Given the description of an element on the screen output the (x, y) to click on. 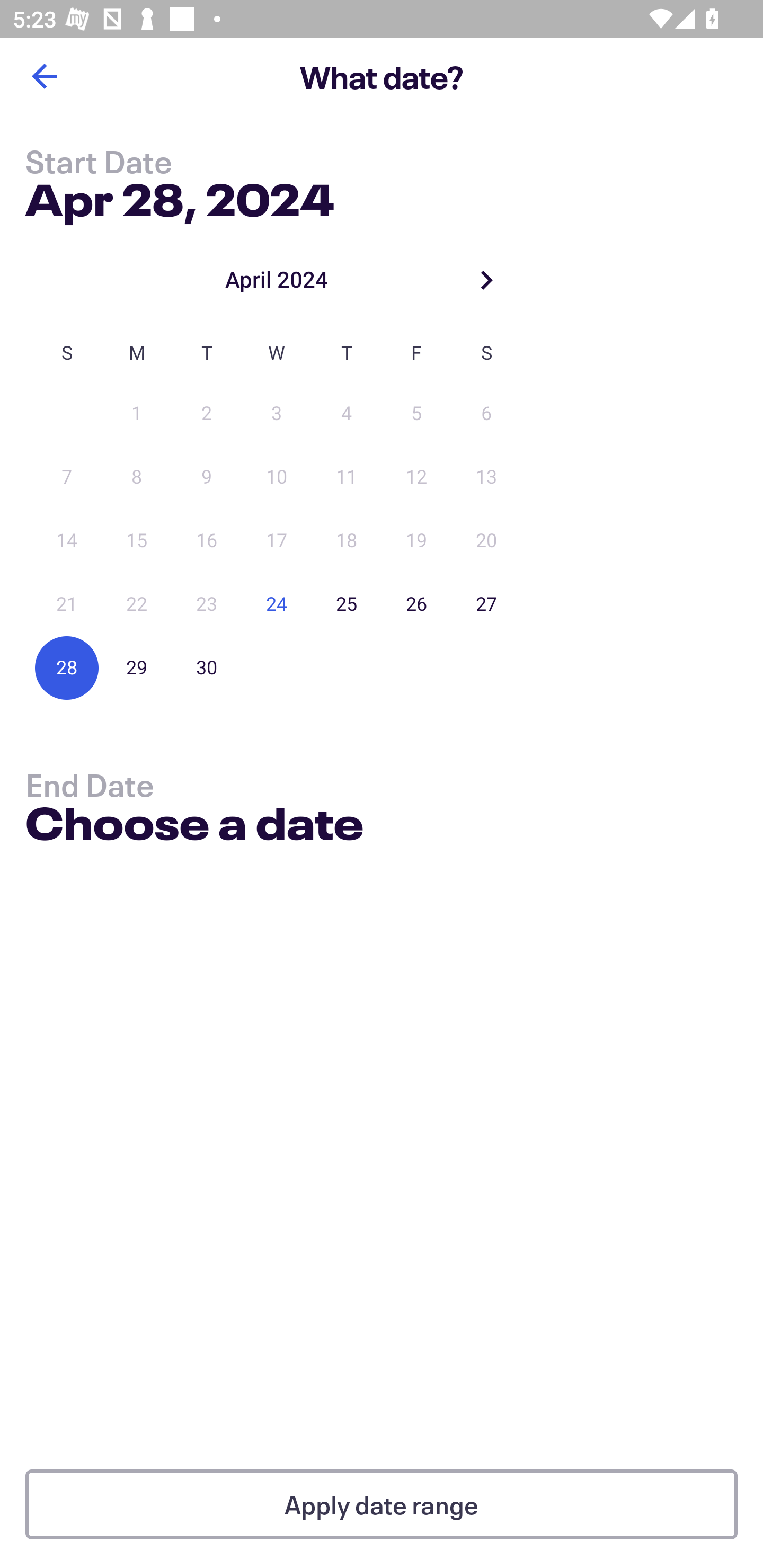
Back button (44, 75)
Apr 28, 2024 (179, 195)
Next month (486, 279)
1 01 April 2024 (136, 413)
2 02 April 2024 (206, 413)
3 03 April 2024 (276, 413)
4 04 April 2024 (346, 413)
5 05 April 2024 (416, 413)
6 06 April 2024 (486, 413)
7 07 April 2024 (66, 477)
8 08 April 2024 (136, 477)
9 09 April 2024 (206, 477)
10 10 April 2024 (276, 477)
11 11 April 2024 (346, 477)
12 12 April 2024 (416, 477)
13 13 April 2024 (486, 477)
14 14 April 2024 (66, 540)
15 15 April 2024 (136, 540)
16 16 April 2024 (206, 540)
17 17 April 2024 (276, 540)
18 18 April 2024 (346, 540)
19 19 April 2024 (416, 540)
20 20 April 2024 (486, 540)
21 21 April 2024 (66, 604)
22 22 April 2024 (136, 604)
23 23 April 2024 (206, 604)
24 24 April 2024 (276, 604)
25 25 April 2024 (346, 604)
26 26 April 2024 (416, 604)
27 27 April 2024 (486, 604)
28 28 April 2024 (66, 667)
29 29 April 2024 (136, 667)
30 30 April 2024 (206, 667)
Choose a date (194, 826)
Apply date range (381, 1504)
